Given the description of an element on the screen output the (x, y) to click on. 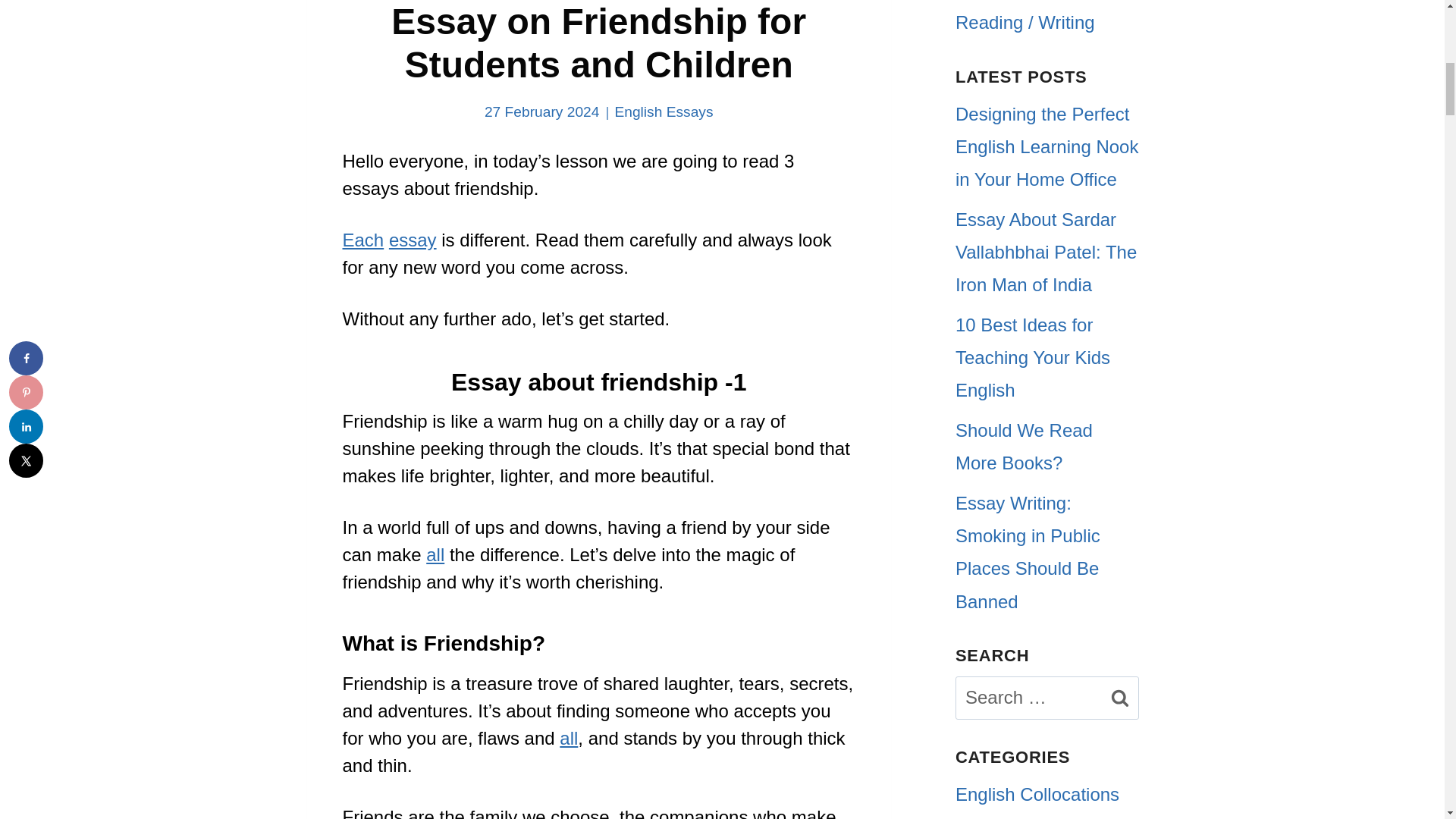
essay (412, 240)
English Essays (663, 111)
Each (363, 240)
